Given the description of an element on the screen output the (x, y) to click on. 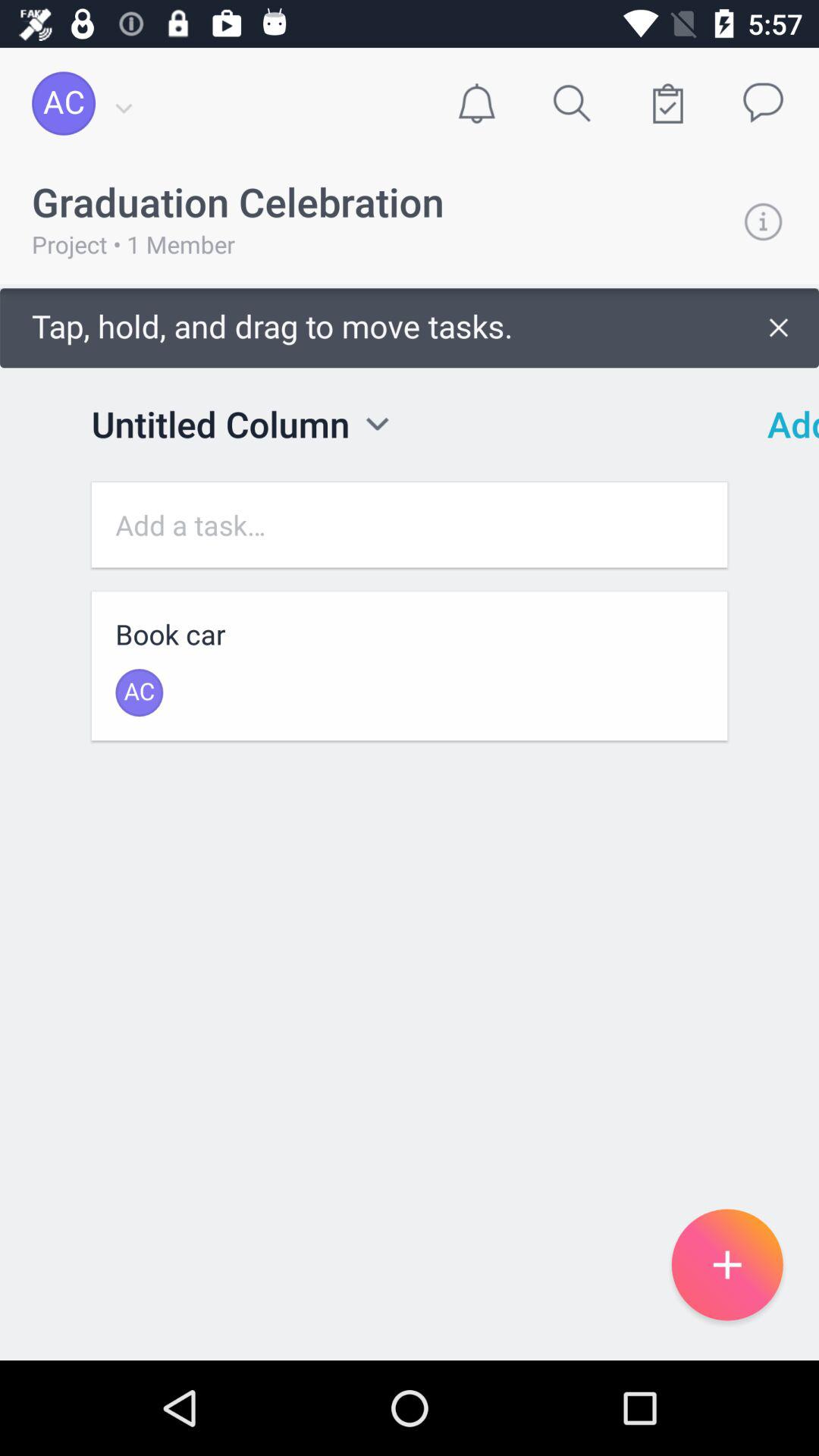
add a task (409, 524)
